Given the description of an element on the screen output the (x, y) to click on. 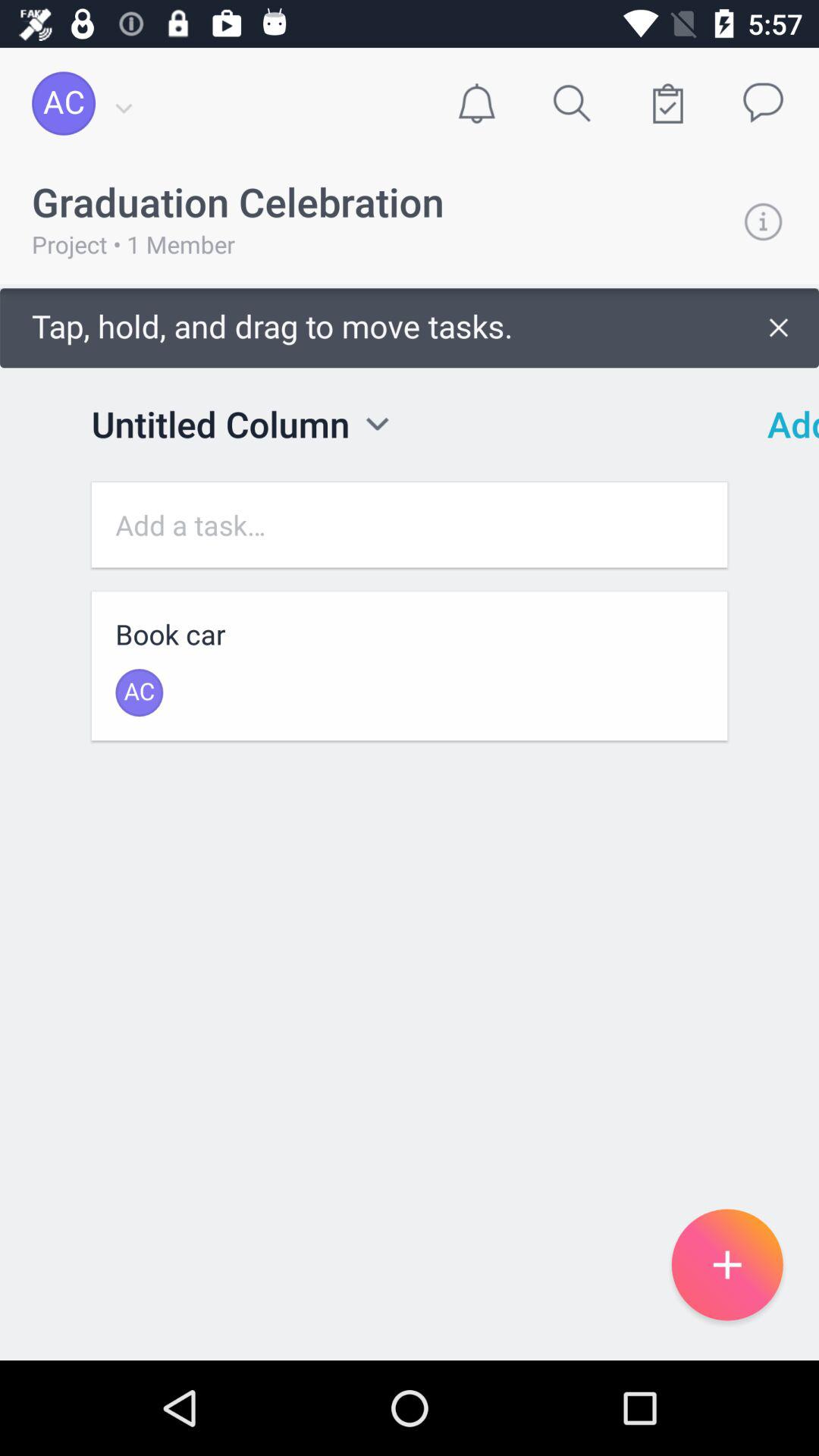
add a task (409, 524)
